Given the description of an element on the screen output the (x, y) to click on. 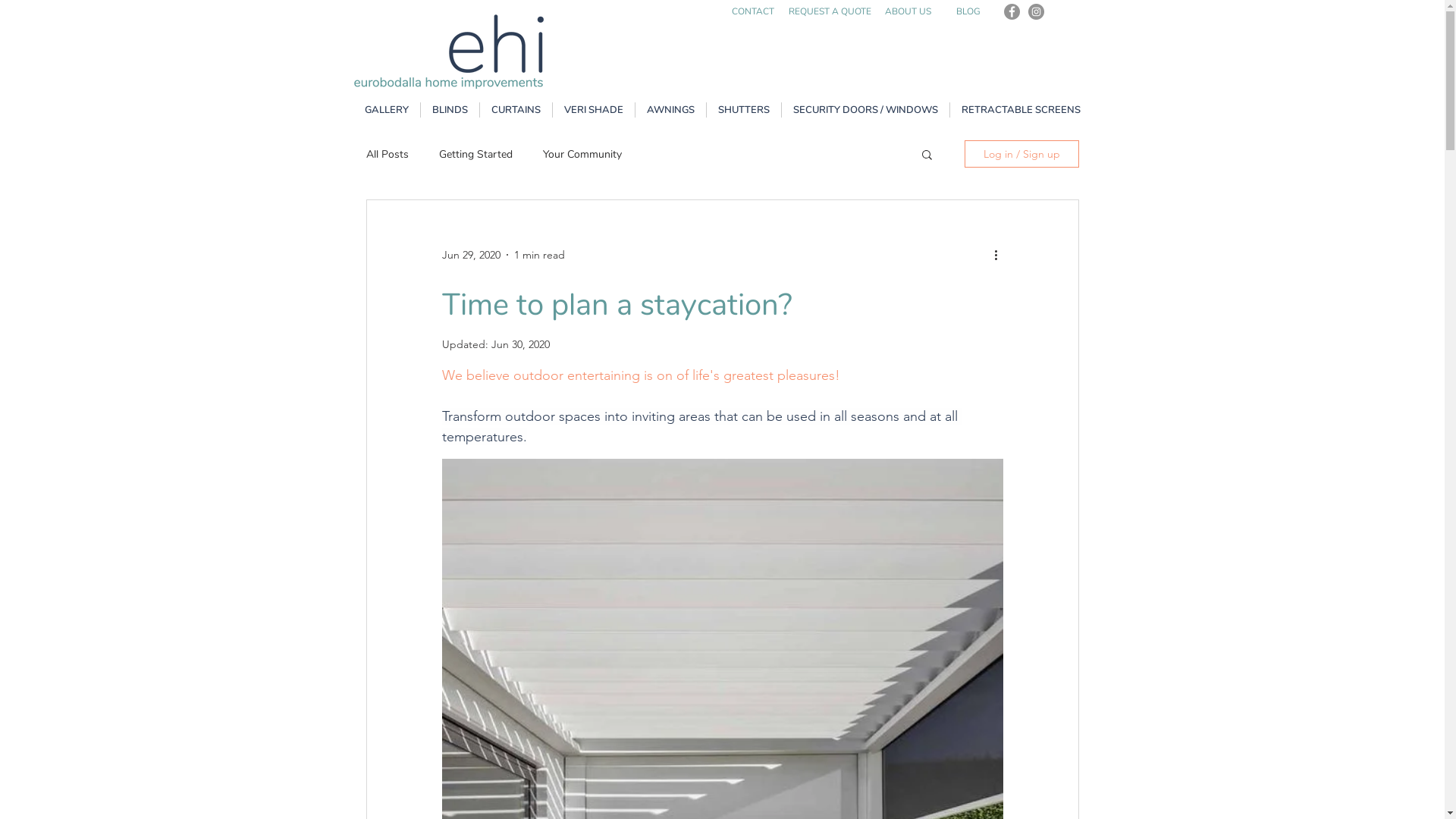
CURTAINS Element type: text (515, 109)
VERI SHADE Element type: text (592, 109)
All Posts Element type: text (386, 154)
Getting Started Element type: text (474, 154)
AWNINGS Element type: text (670, 109)
SHUTTERS Element type: text (743, 109)
RETRACTABLE SCREENS Element type: text (1020, 109)
BLINDS Element type: text (449, 109)
REQUEST A QUOTE Element type: text (829, 10)
BLOG Element type: text (967, 10)
CONTACT Element type: text (752, 10)
SECURITY DOORS / WINDOWS Element type: text (864, 109)
ABOUT US Element type: text (908, 10)
GALLERY Element type: text (386, 109)
Log in / Sign up Element type: text (1021, 153)
Your Community Element type: text (581, 154)
